Given the description of an element on the screen output the (x, y) to click on. 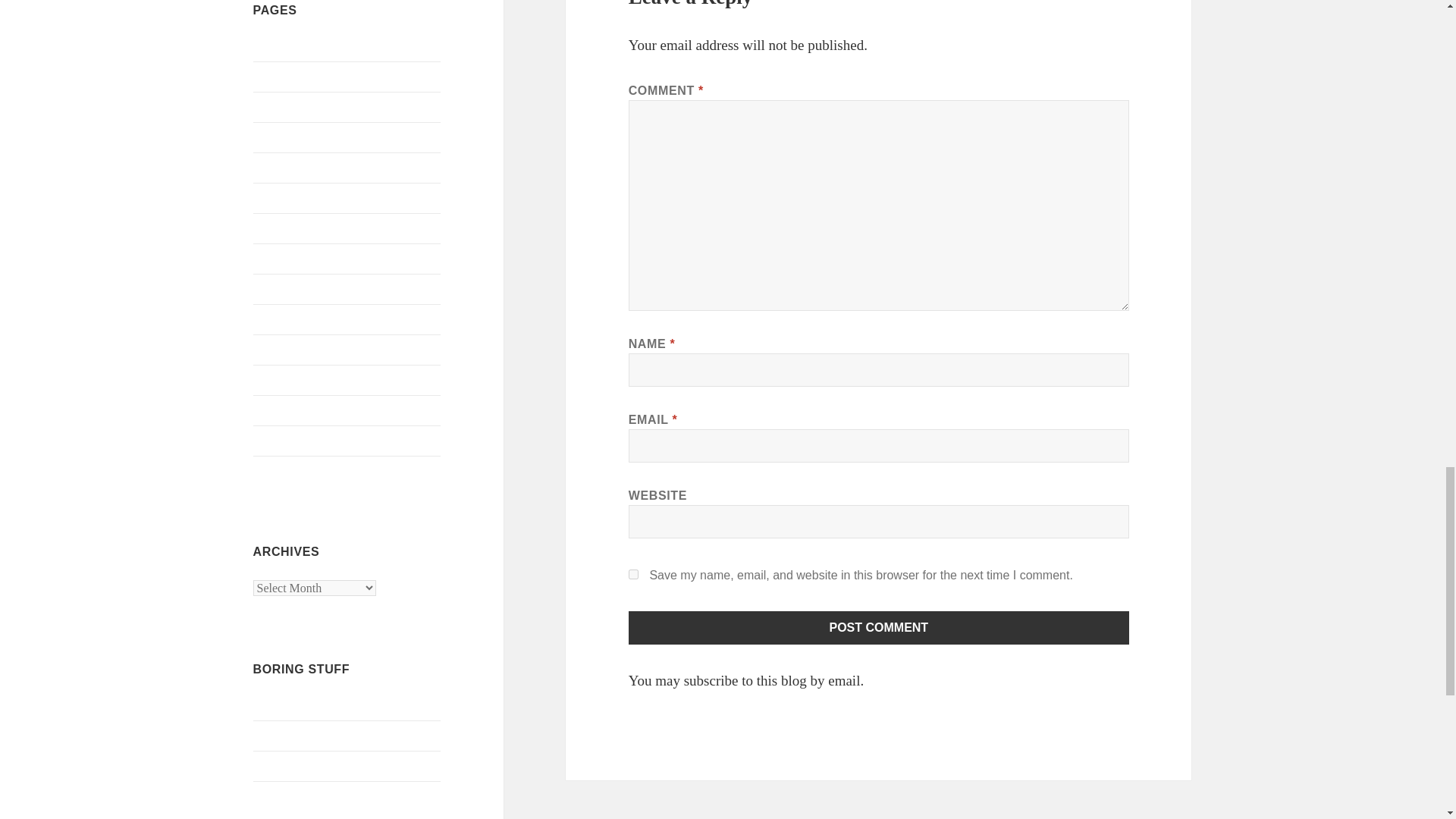
My favorite quotes (299, 258)
Privacy Policy (288, 379)
Post Comment (878, 627)
Terms of use (284, 440)
About me (277, 76)
Cognitive biases (293, 137)
My favorite articles (301, 228)
Book recommendations (310, 106)
My bets (272, 197)
Interviews and talks (301, 167)
A short history of technology (324, 46)
Newsletter (279, 318)
Recommended video games (321, 410)
My rules (275, 288)
yes (633, 574)
